Given the description of an element on the screen output the (x, y) to click on. 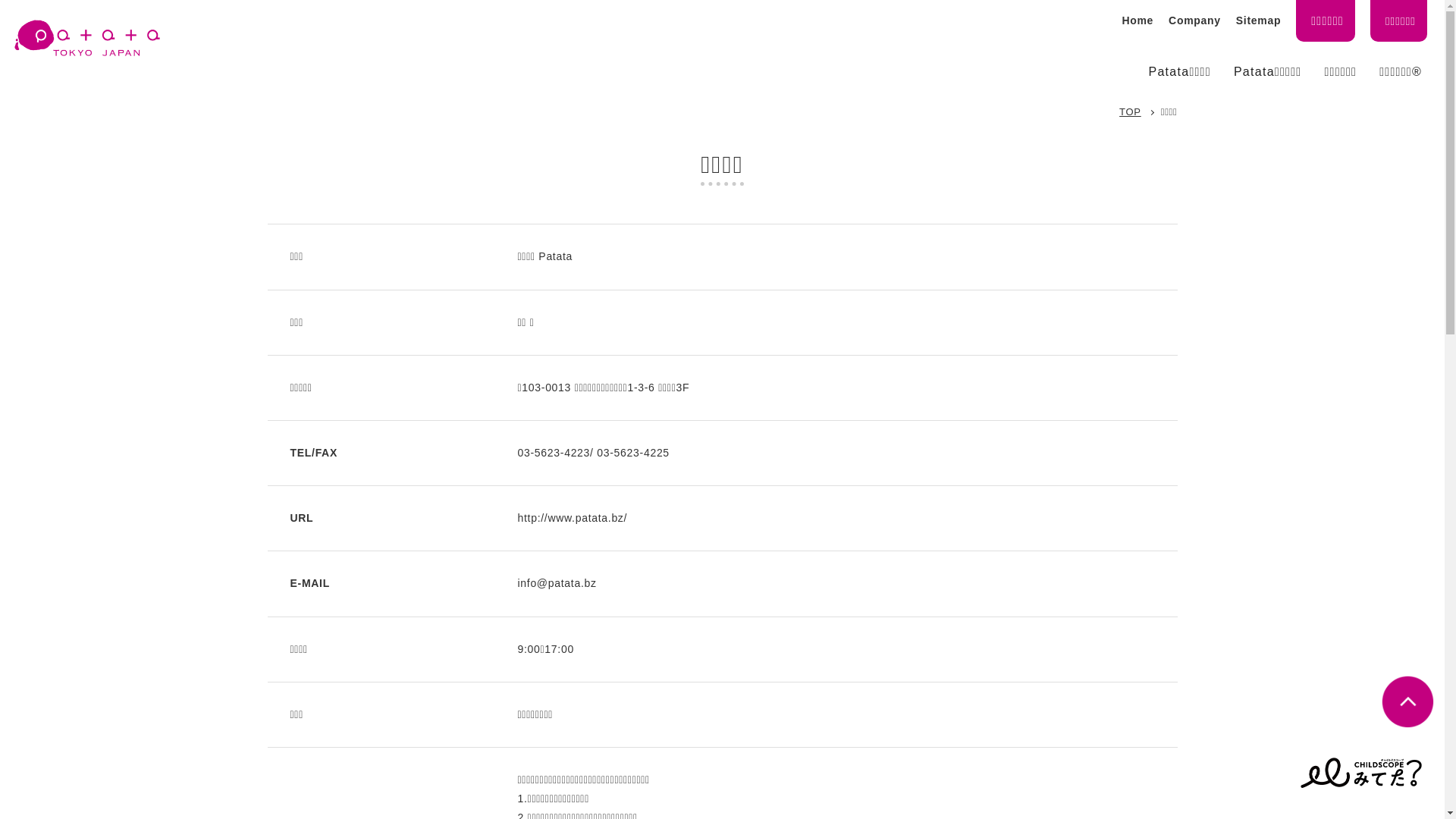
http://www.patata.bz/ Element type: text (572, 517)
Sitemap Element type: text (1258, 20)
TOP Element type: text (1130, 111)
Home Element type: text (1137, 20)
Company Element type: text (1194, 20)
